Given the description of an element on the screen output the (x, y) to click on. 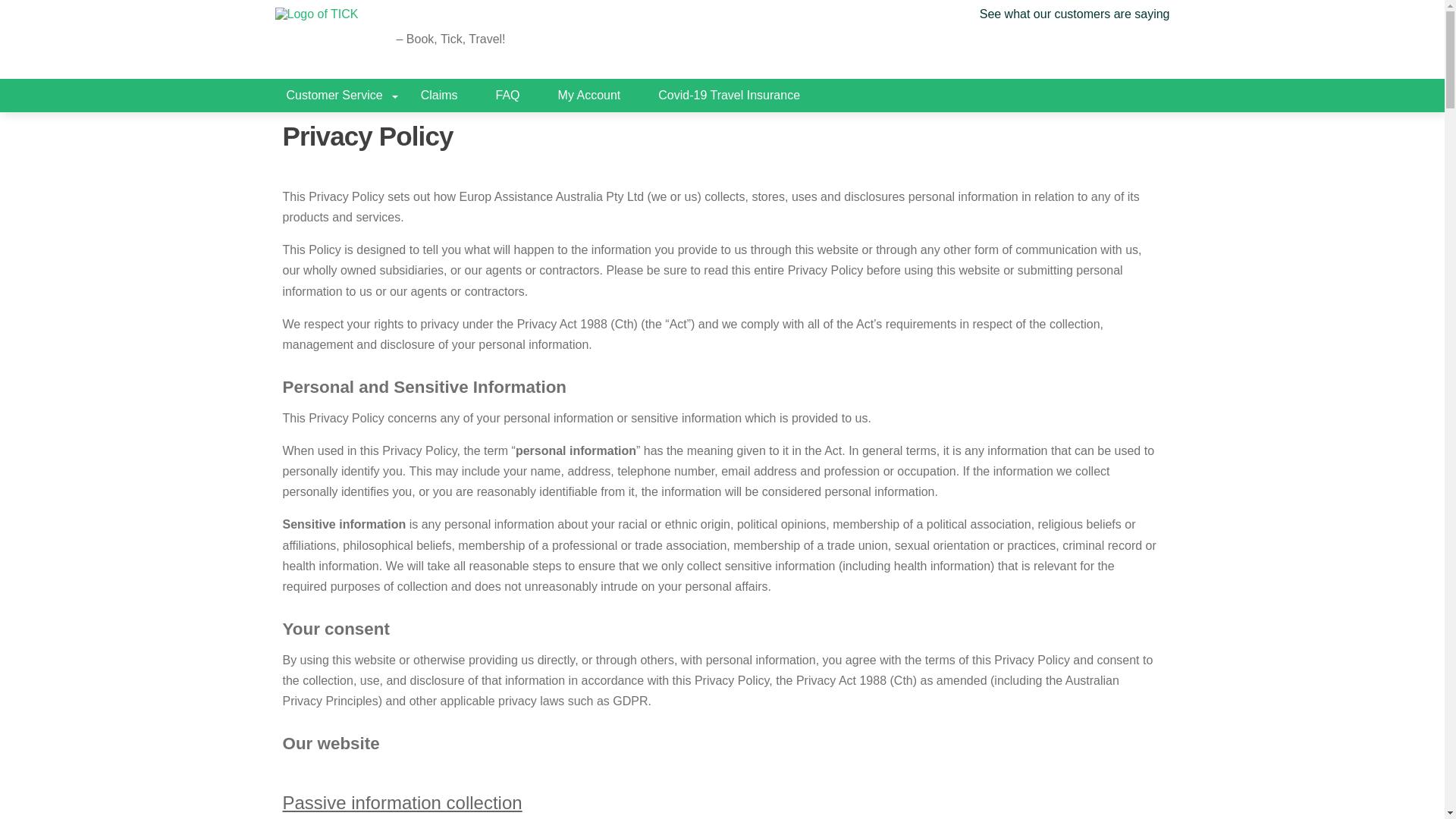
My Account (589, 95)
Covid-19 Travel Insurance (728, 95)
Claims (439, 95)
